Given the description of an element on the screen output the (x, y) to click on. 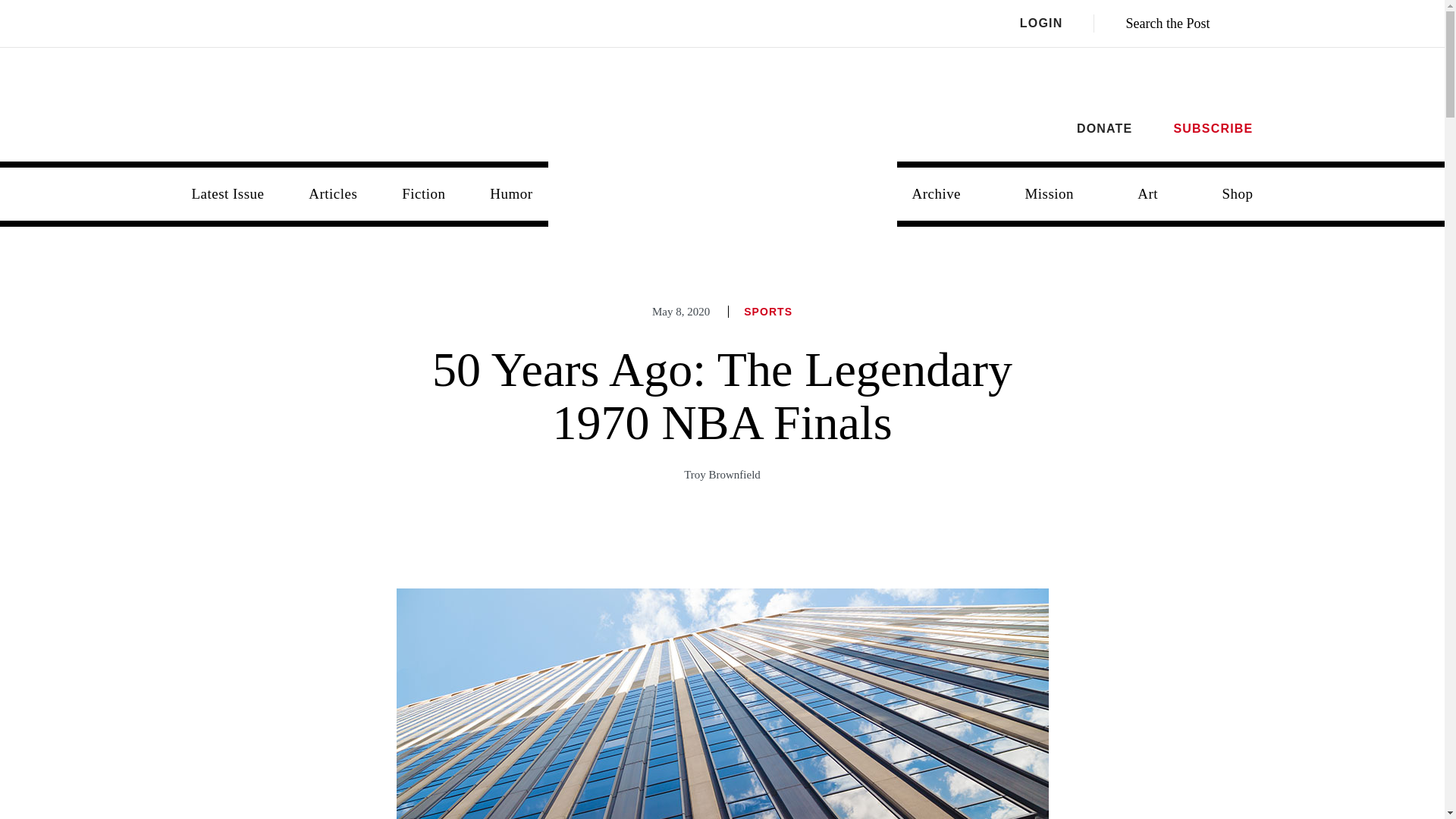
Archive (935, 193)
Latest Issue (227, 193)
LOGIN (1057, 23)
Mission (1049, 193)
The Saturday Evening Post (722, 181)
Art (1147, 193)
Shop (1237, 193)
Fiction (423, 193)
Articles (333, 193)
SPORTS (768, 311)
Troy Brownfield (722, 474)
DONATE (1104, 128)
Posts by Troy Brownfield (722, 474)
Humor (510, 193)
SUBSCRIBE (1212, 128)
